Given the description of an element on the screen output the (x, y) to click on. 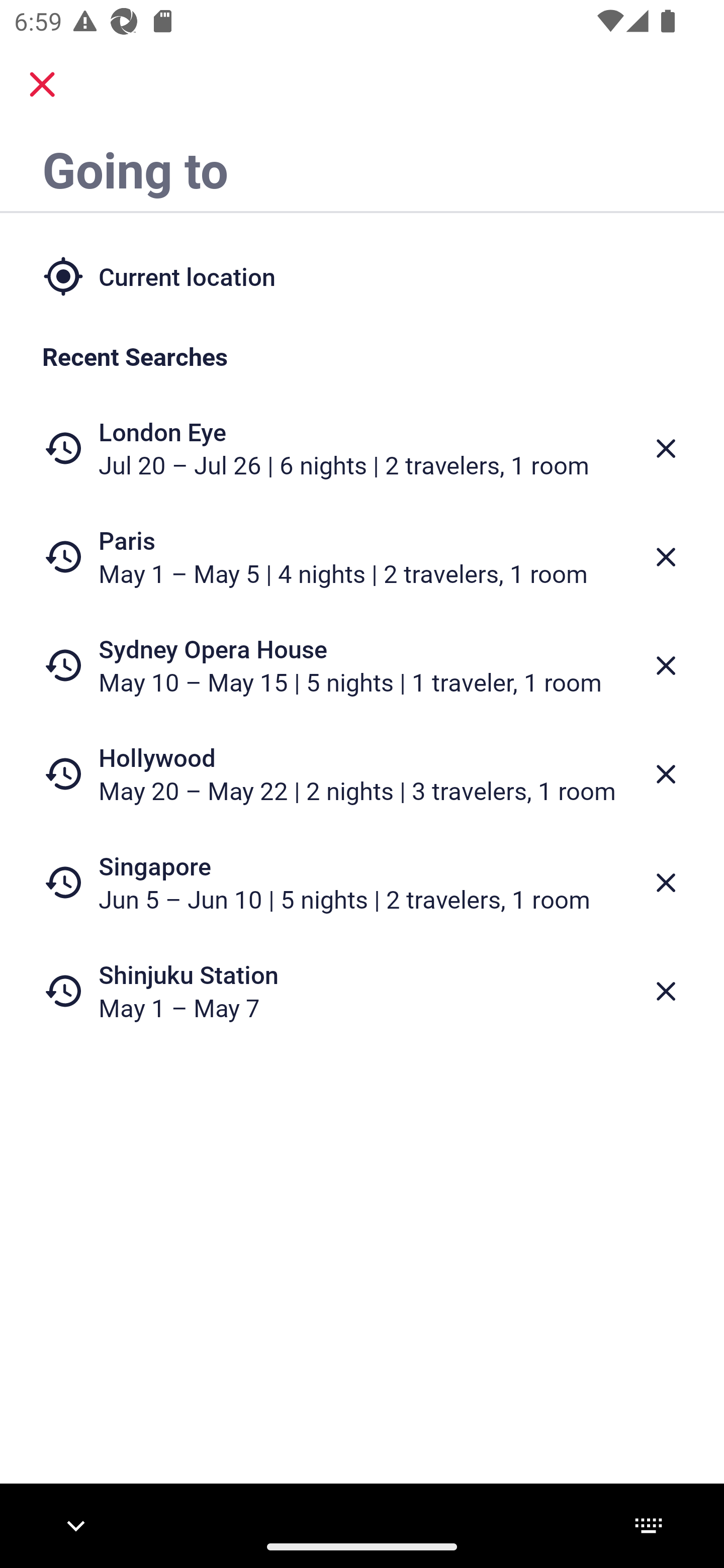
close. (42, 84)
Current location (362, 275)
Delete from recent searches (666, 448)
Delete from recent searches (666, 556)
Delete from recent searches (666, 666)
Delete from recent searches (666, 774)
Delete from recent searches (666, 882)
Shinjuku Station May 1 – May 7 (362, 990)
Delete from recent searches (666, 990)
